Given the description of an element on the screen output the (x, y) to click on. 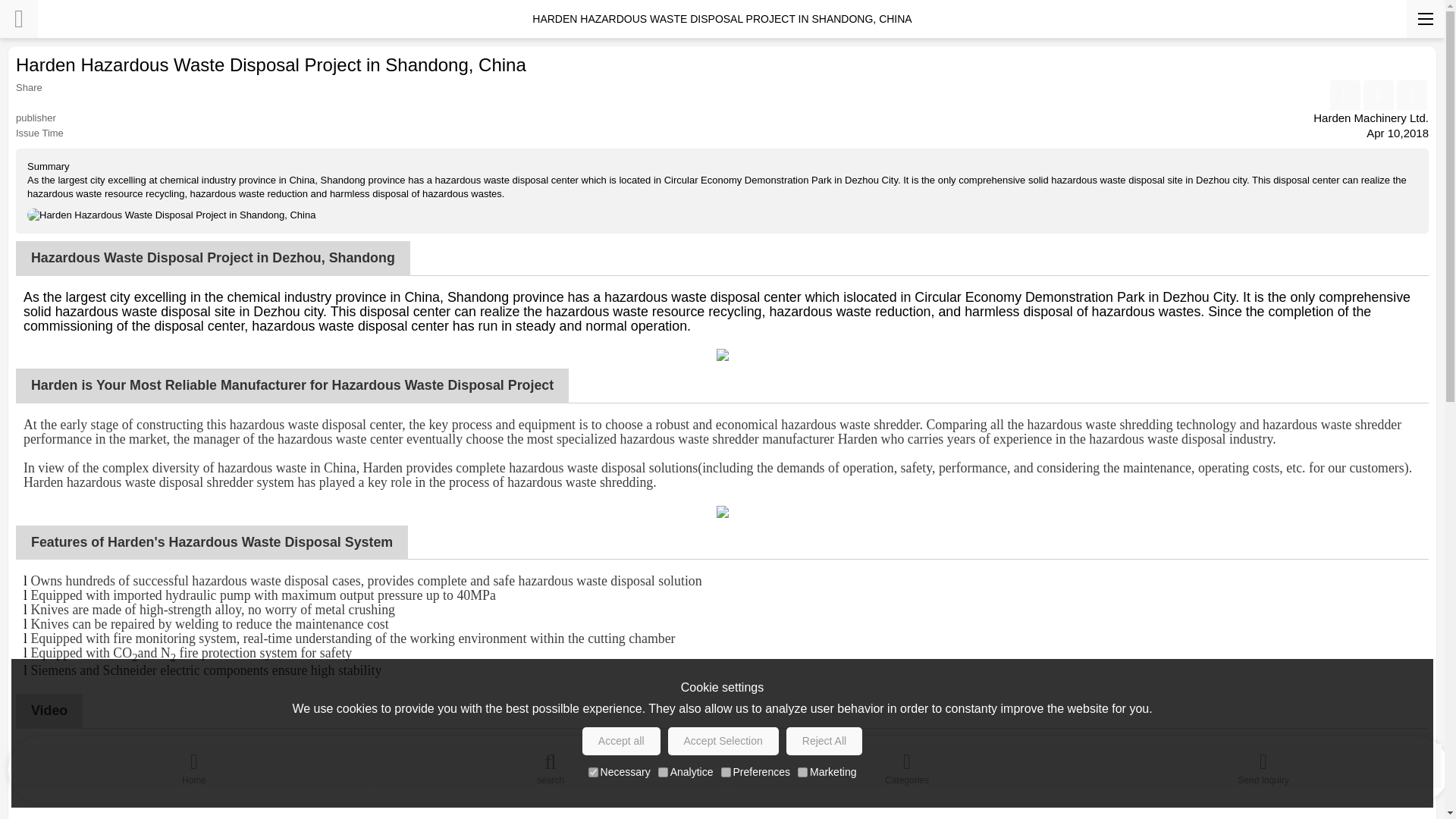
Send Inquiry (1262, 765)
Accept Selection (723, 741)
Share Twitter (1411, 95)
search (550, 765)
Categories (906, 765)
on (725, 772)
Share Linkedin (1377, 95)
Accept all (621, 741)
Return (18, 18)
Reject All (823, 741)
on (663, 772)
Home (194, 765)
Categories (906, 765)
Send Inquiry (1262, 765)
Home (194, 765)
